Given the description of an element on the screen output the (x, y) to click on. 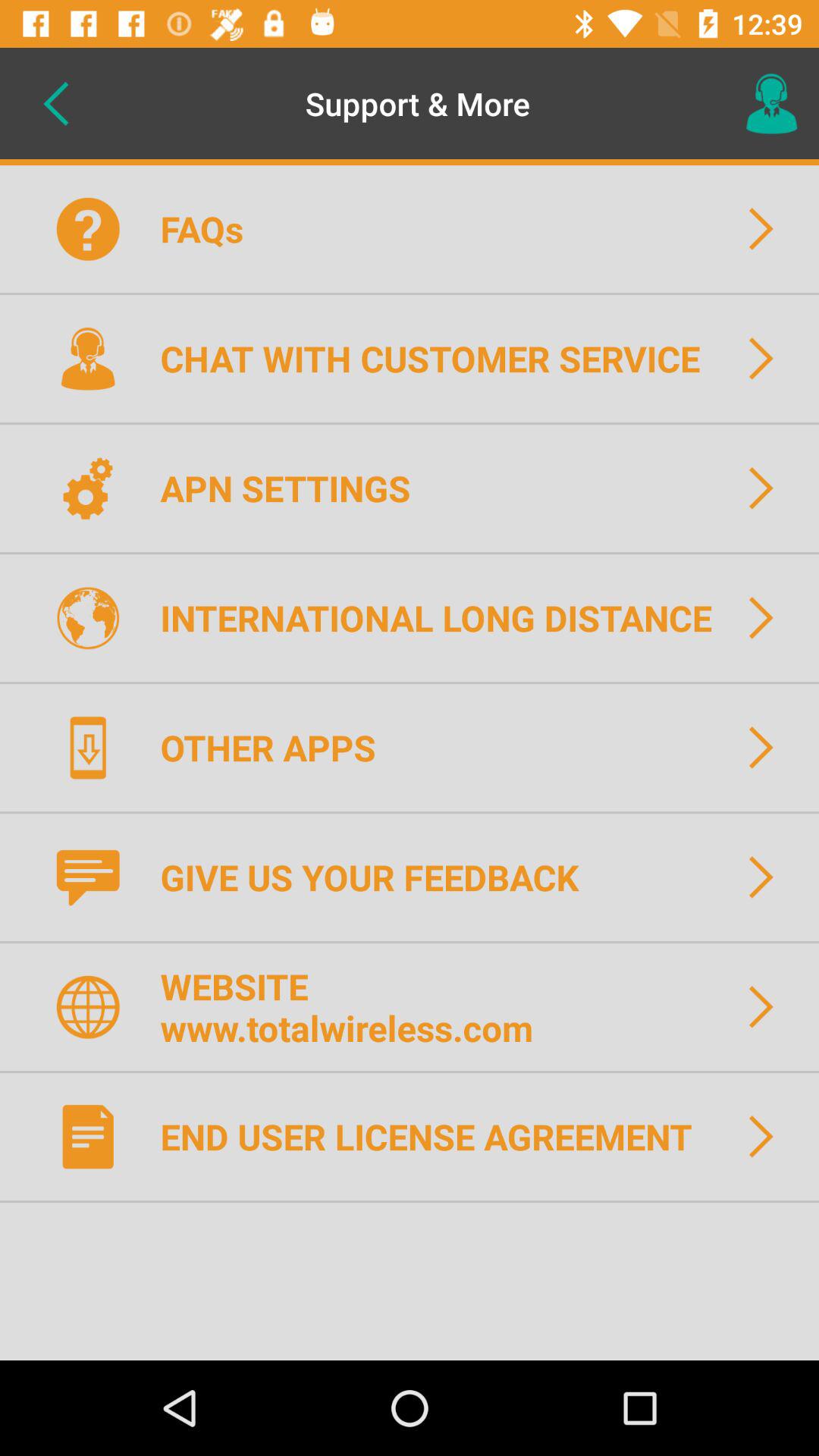
choose the item above website www totalwireless icon (379, 877)
